Given the description of an element on the screen output the (x, y) to click on. 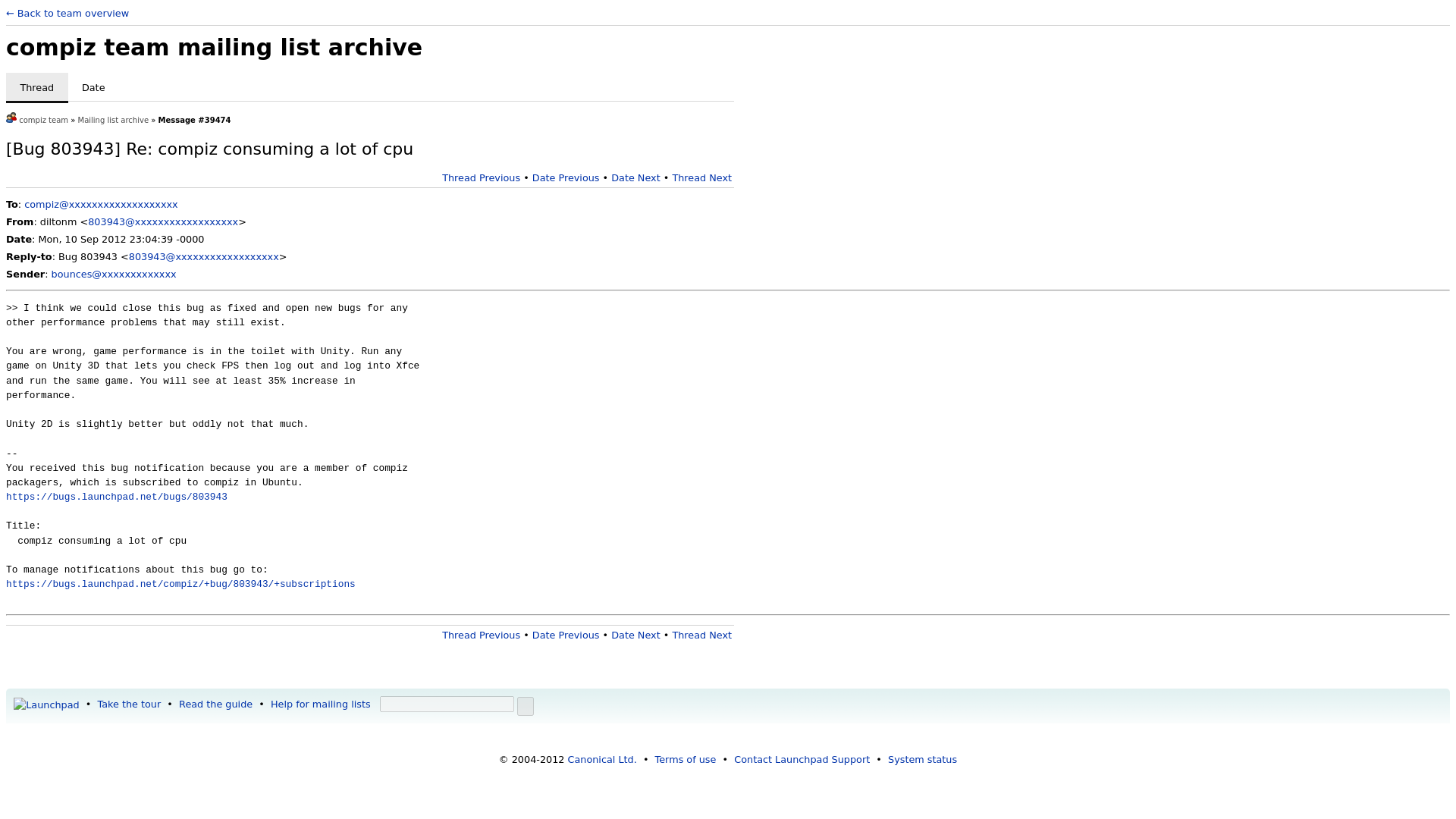
Date Previous (565, 177)
Date (93, 87)
Mailing list archive (113, 120)
View messages by thread (36, 88)
Date Next (635, 177)
View messages by date (93, 88)
Thread (36, 87)
Read the guide (215, 704)
Take the tour (128, 704)
Date Next (635, 634)
